Given the description of an element on the screen output the (x, y) to click on. 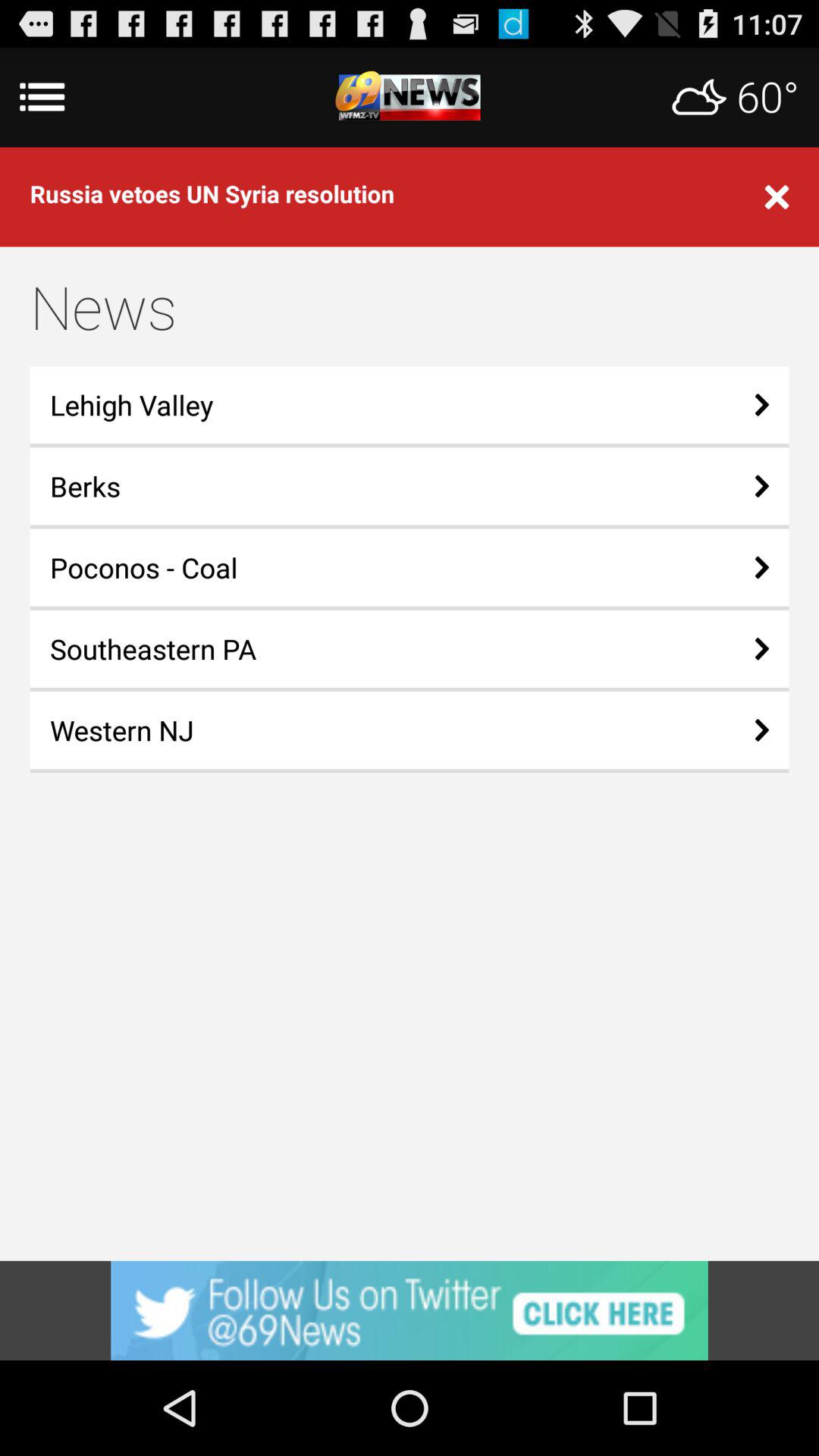
click to go to their twitter (409, 1310)
